Given the description of an element on the screen output the (x, y) to click on. 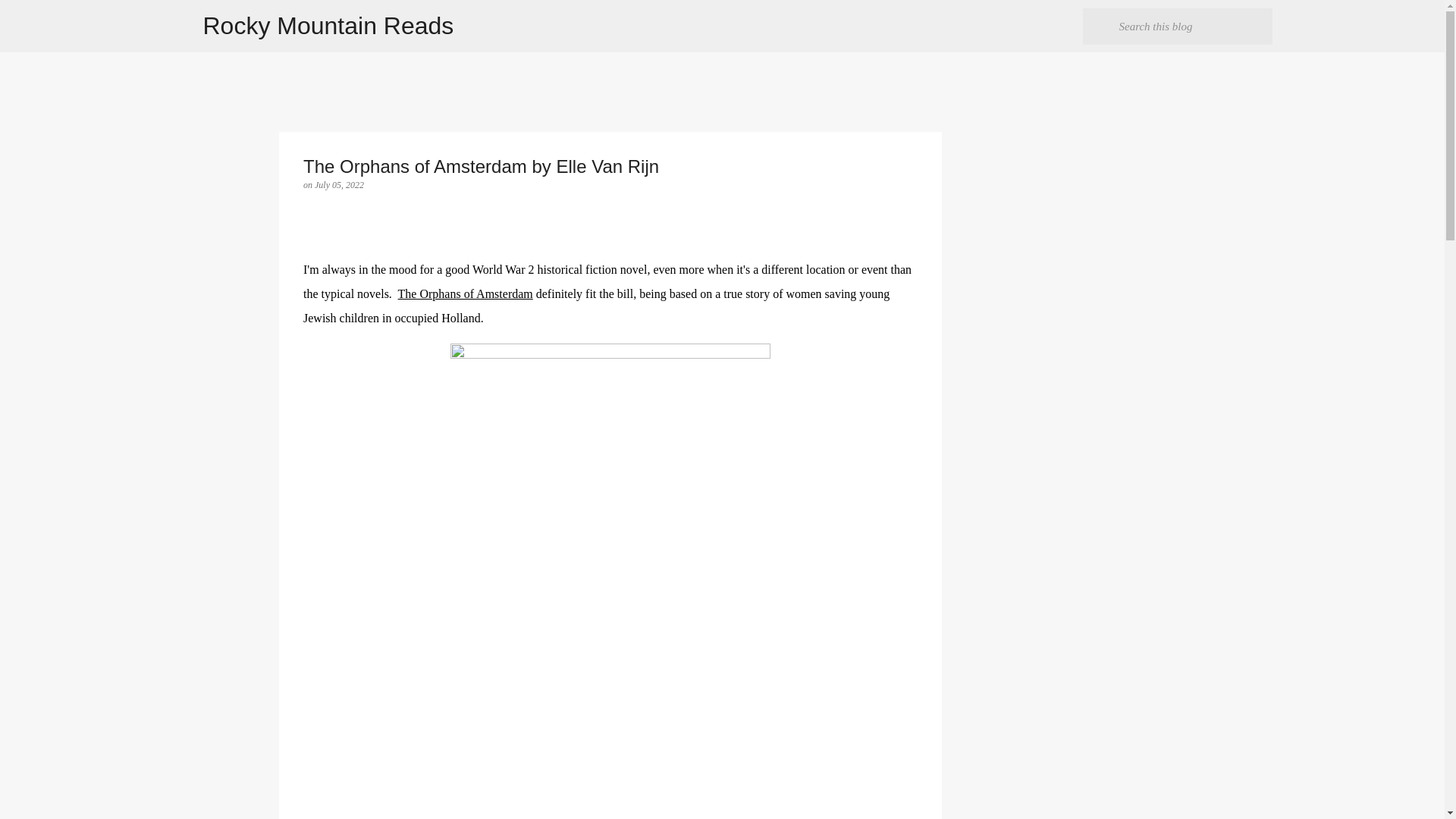
July 05, 2022 (339, 184)
Rocky Mountain Reads (328, 25)
permanent link (339, 184)
